Given the description of an element on the screen output the (x, y) to click on. 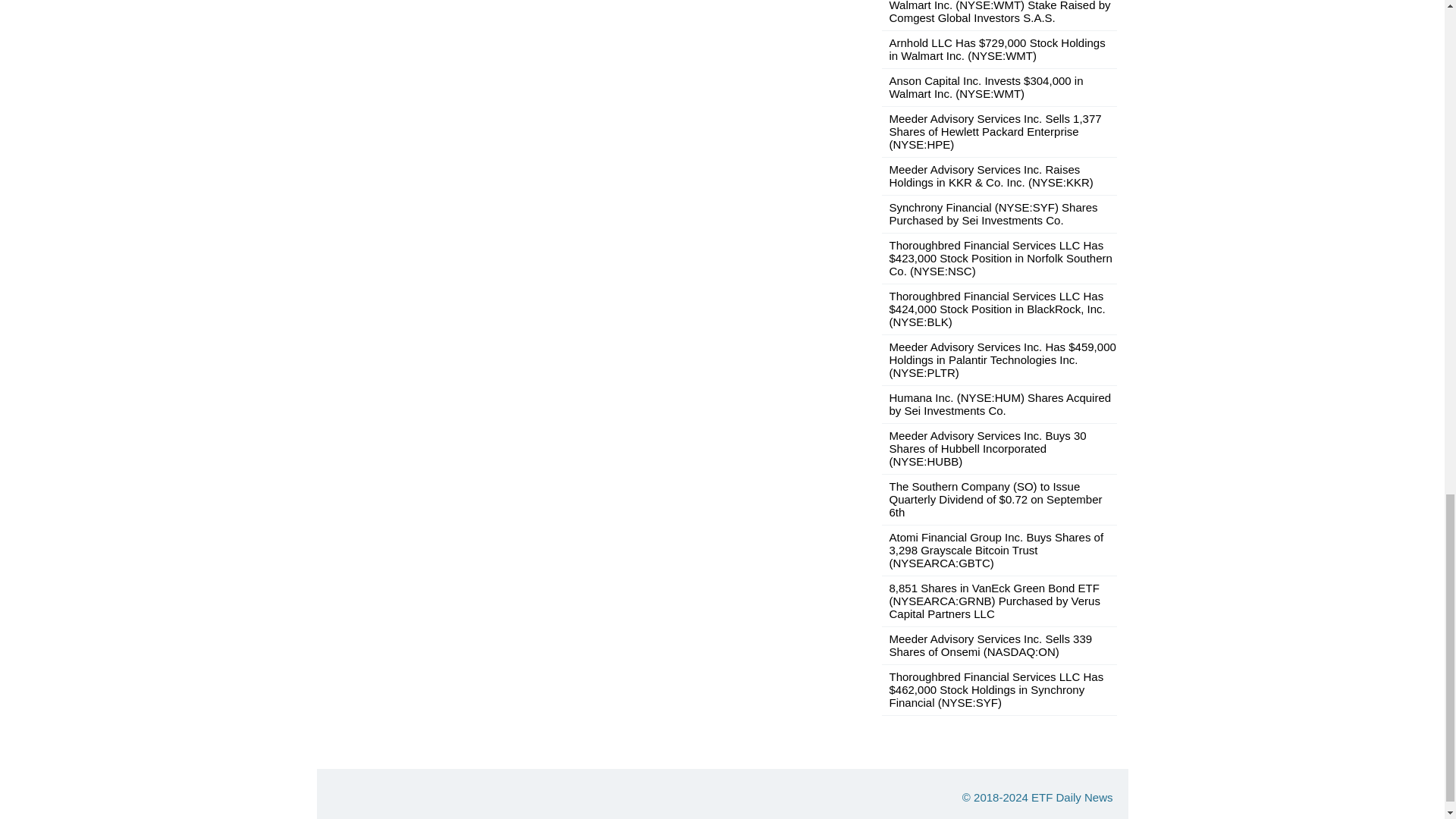
ETF Daily News (1071, 797)
